Given the description of an element on the screen output the (x, y) to click on. 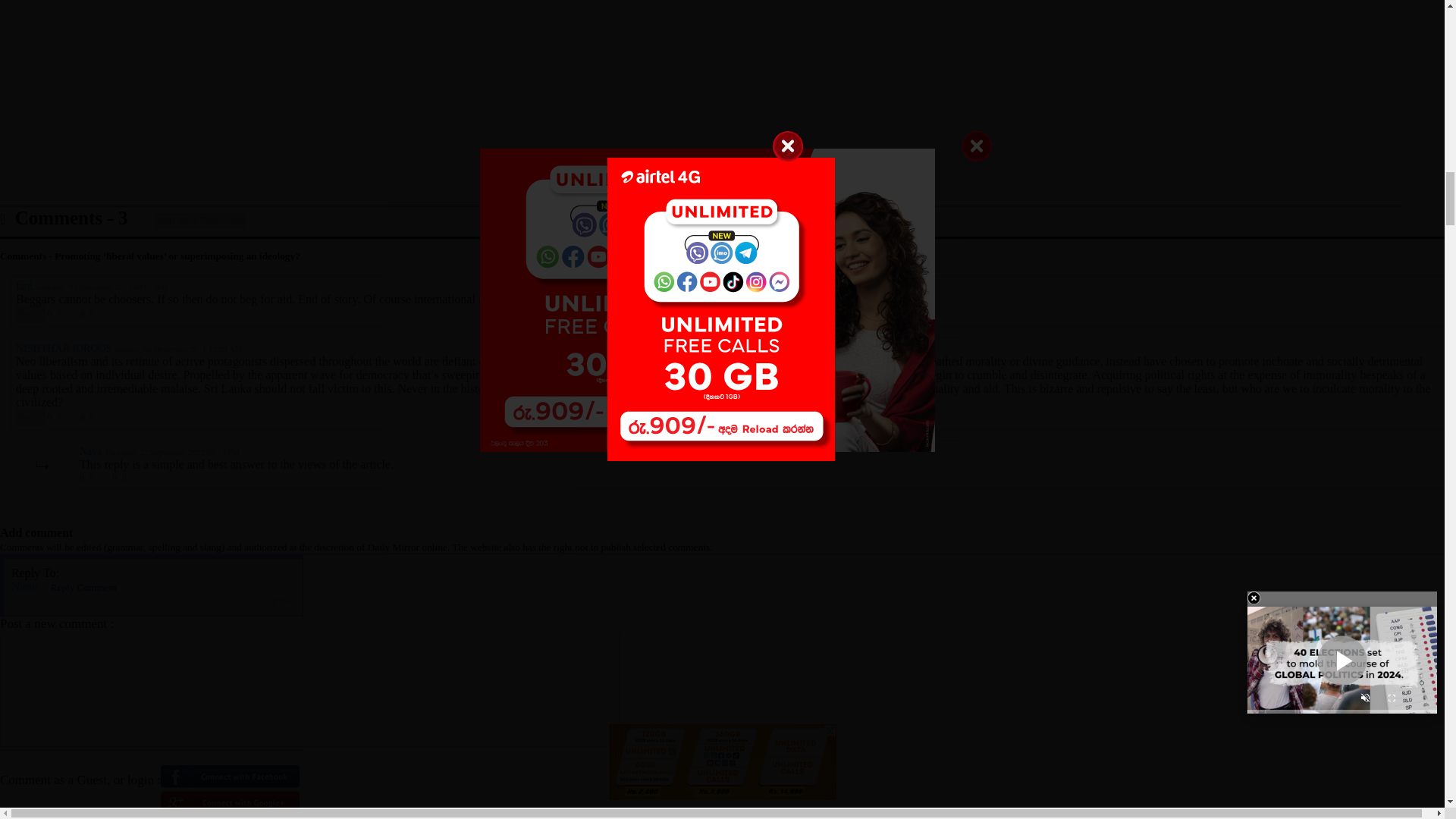
3rd party ad content (721, 102)
